Given the description of an element on the screen output the (x, y) to click on. 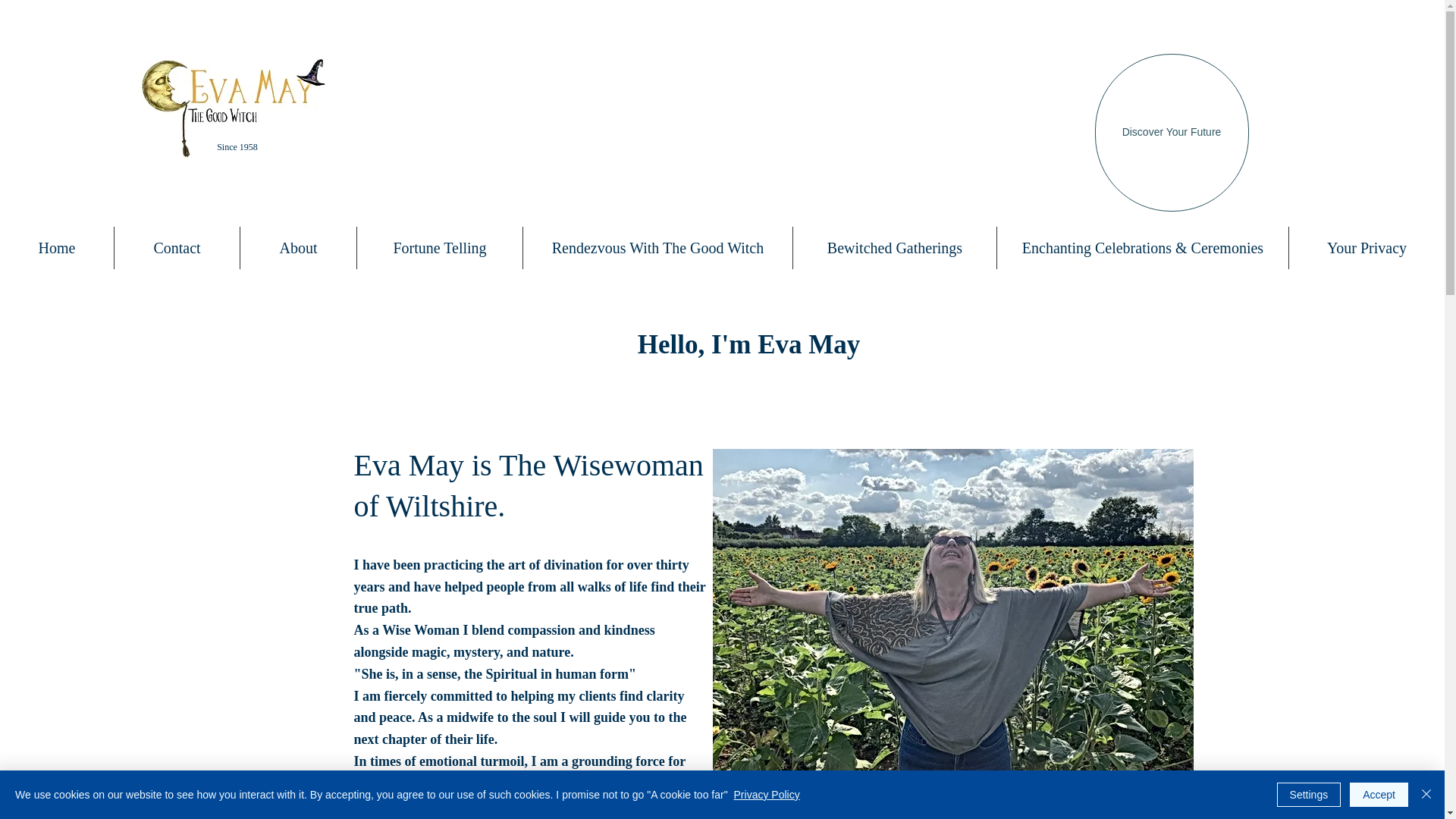
Discover Your Future (1171, 132)
Accept (1378, 794)
Contact (177, 247)
Privacy Policy (766, 794)
Home (56, 247)
Settings (1308, 794)
Fortune Telling (439, 247)
Bewitched Gatherings (894, 247)
Rendezvous With The Good Witch (657, 247)
About (298, 247)
